Given the description of an element on the screen output the (x, y) to click on. 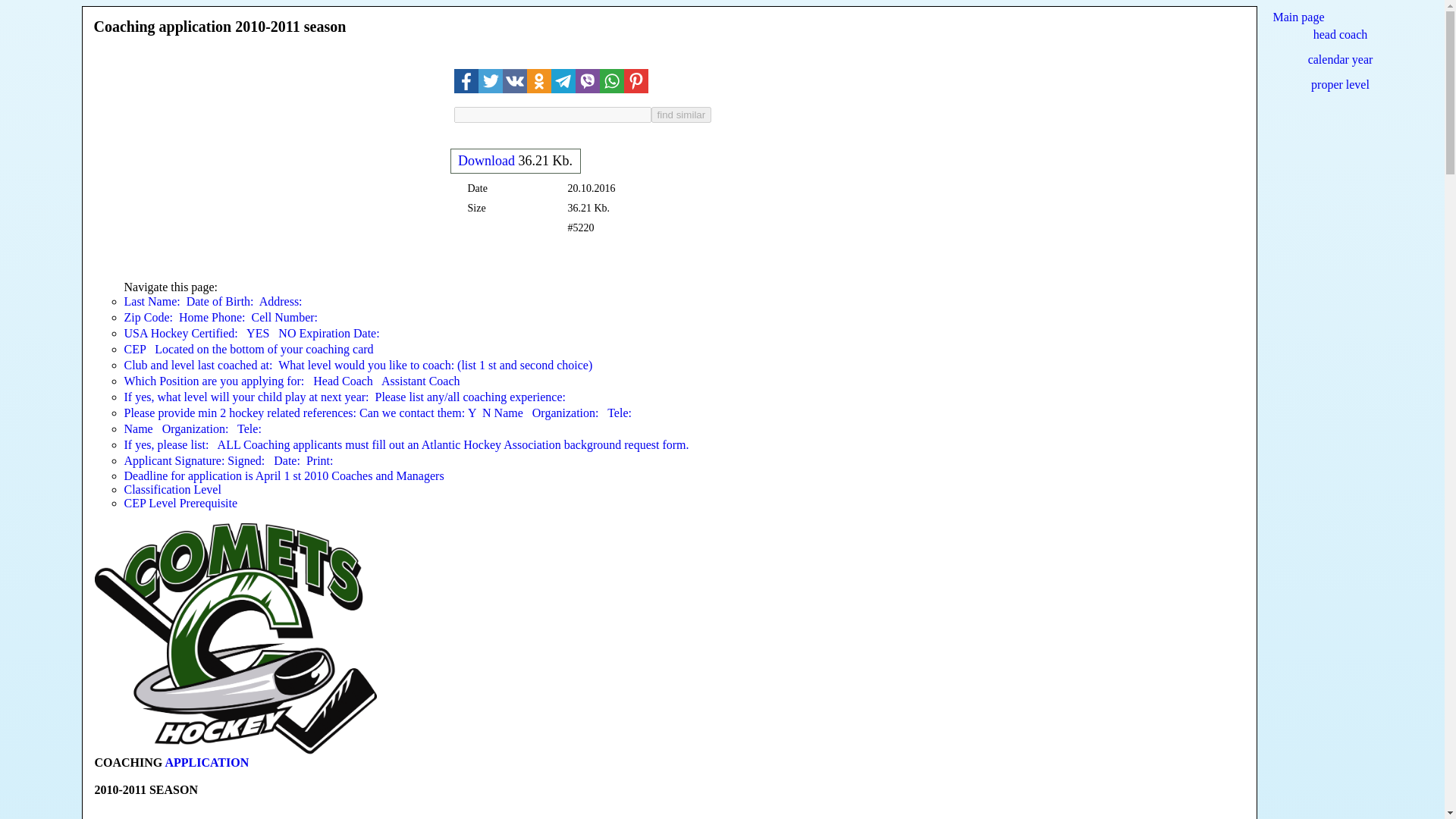
Download (486, 160)
find similar (680, 114)
APPLICATION (206, 762)
CEP Level Prerequisite (180, 502)
Classification Level (172, 489)
Advertisement (271, 154)
find similar (680, 114)
